Given the description of an element on the screen output the (x, y) to click on. 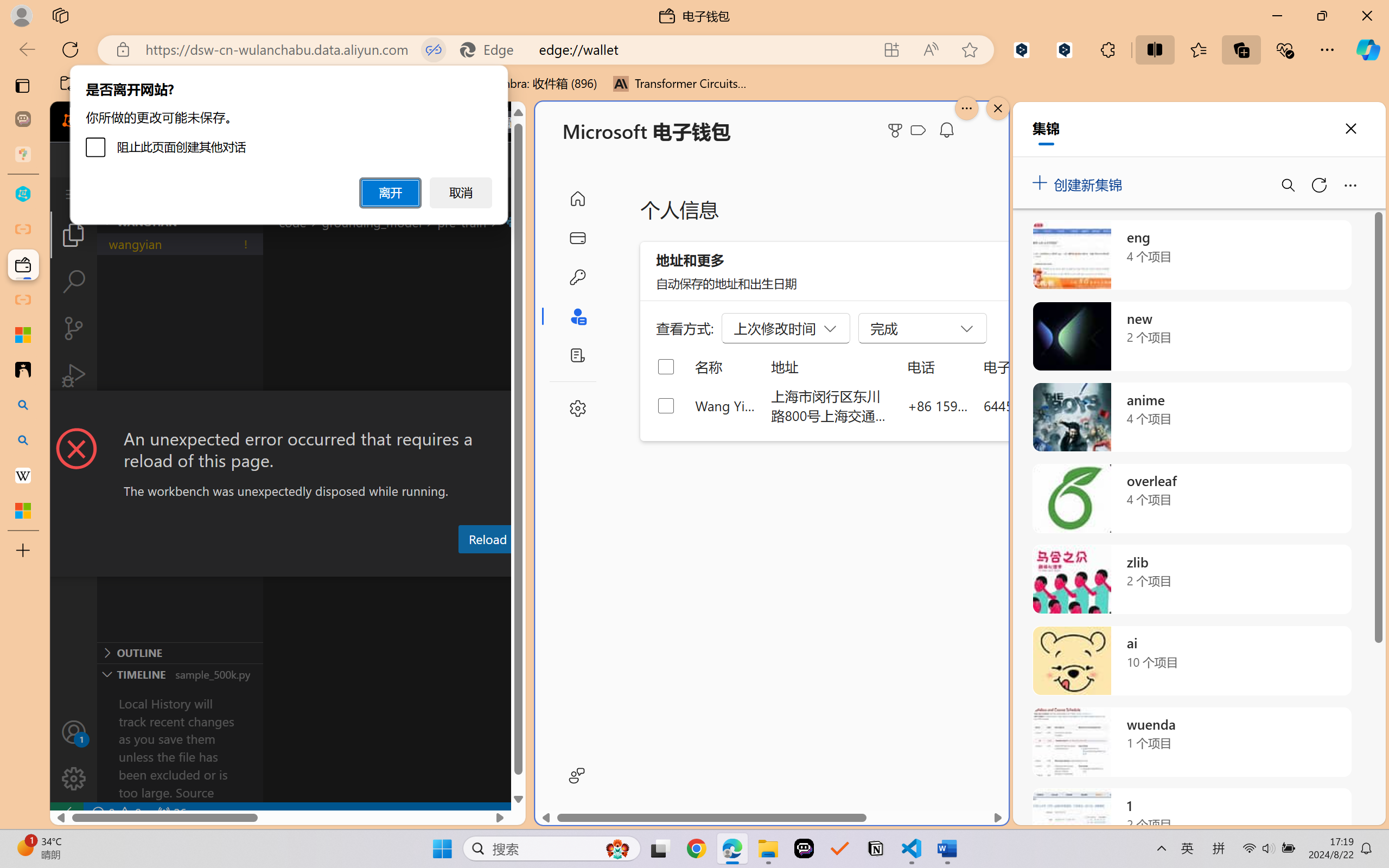
Outline Section (179, 652)
Problems (Ctrl+Shift+M) (308, 565)
+86 159 0032 4640 (938, 405)
